Given the description of an element on the screen output the (x, y) to click on. 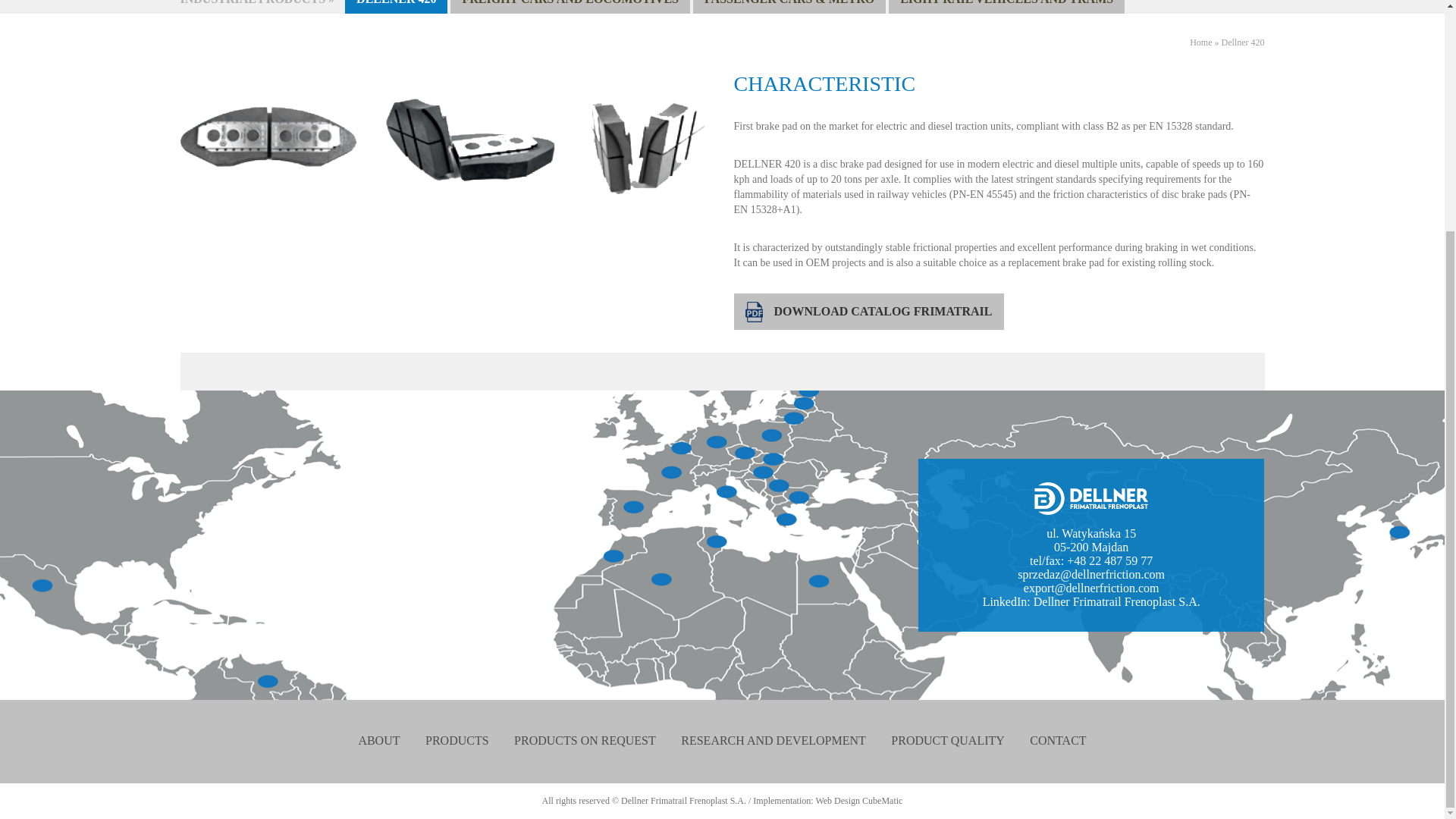
CONTACT (1057, 740)
DOWNLOAD CATALOG FRIMATRAIL (868, 311)
Dellner Frimatrail Frenoplast S.A. (1116, 601)
FREIGHT CARS AND LOCOMOTIVES (569, 6)
DELLNER 420 (395, 6)
LIGHT RAIL VEHICLES AND TRAMS (1006, 6)
RESEARCH AND DEVELOPMENT (773, 740)
ABOUT (378, 740)
Web Design (837, 800)
Tworzenie stron www (837, 800)
Home (1200, 41)
PRODUCT QUALITY (947, 740)
Dellner 420 (1243, 41)
PRODUCTS ON REQUEST (584, 740)
PRODUCTS (457, 740)
